Given the description of an element on the screen output the (x, y) to click on. 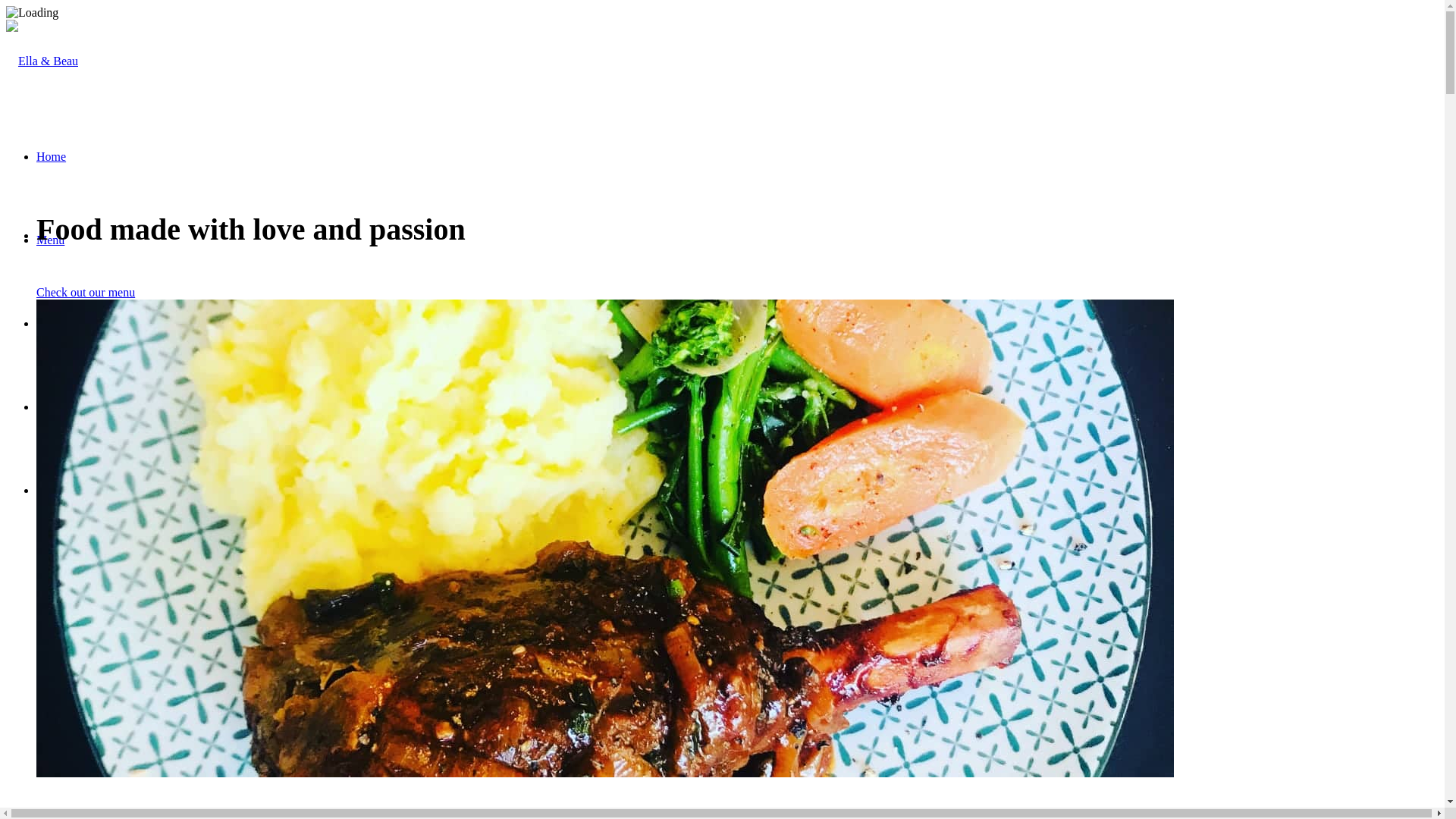
Menu Element type: text (50, 239)
Ready made meals Element type: text (82, 322)
Loading Element type: hover (32, 12)
Contact Element type: text (55, 406)
Menu Menu Element type: text (66, 489)
image_6483441 Element type: hover (604, 538)
Check out our menu Element type: text (85, 291)
Home Element type: text (50, 156)
